Given the description of an element on the screen output the (x, y) to click on. 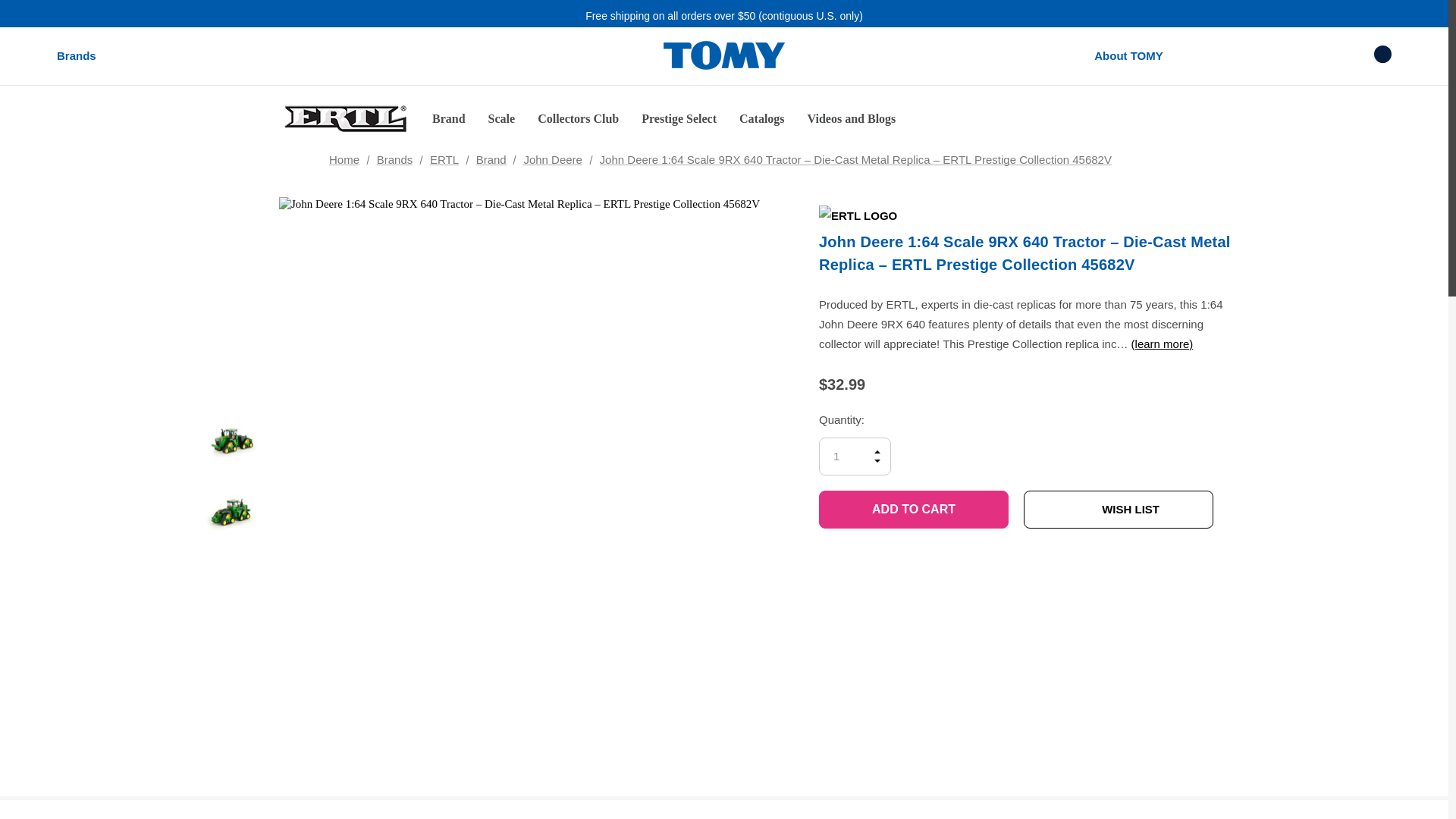
1 (854, 456)
TOMY (723, 55)
Wish Lists Wish Lists (1325, 54)
Brands (76, 56)
Add to Cart (913, 509)
